Given the description of an element on the screen output the (x, y) to click on. 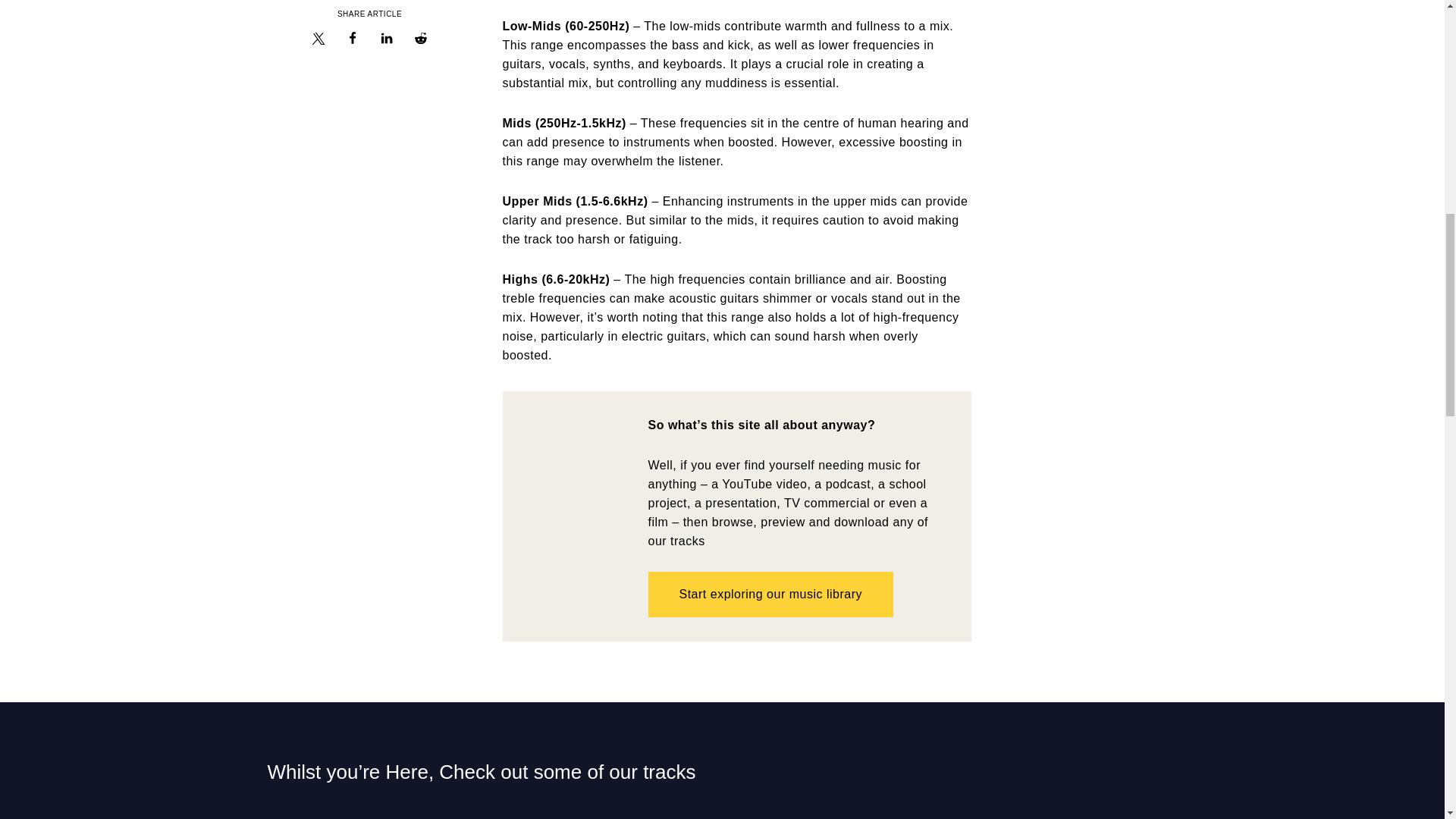
Share on Facebook (351, 40)
Share on LinkedIn (386, 40)
Share on Reddit (419, 40)
Share on X (318, 40)
Start exploring our music library (769, 594)
